Given the description of an element on the screen output the (x, y) to click on. 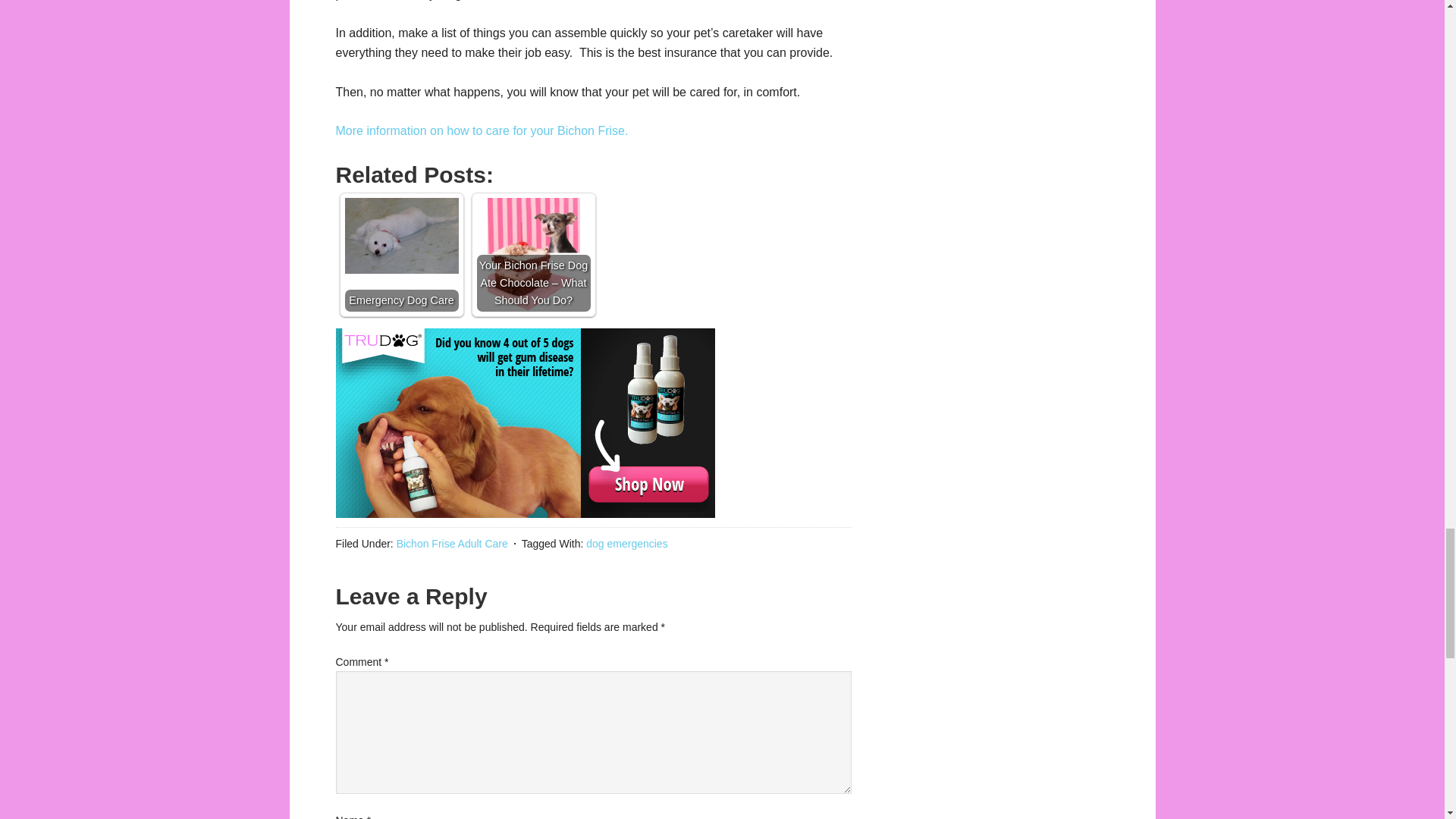
More information on how to care for your Bichon Frise. (480, 130)
dog emergencies (626, 543)
Emergency Dog Care (400, 255)
Bichon Frise Adult Care (452, 543)
Emergency Dog Care (400, 235)
